Given the description of an element on the screen output the (x, y) to click on. 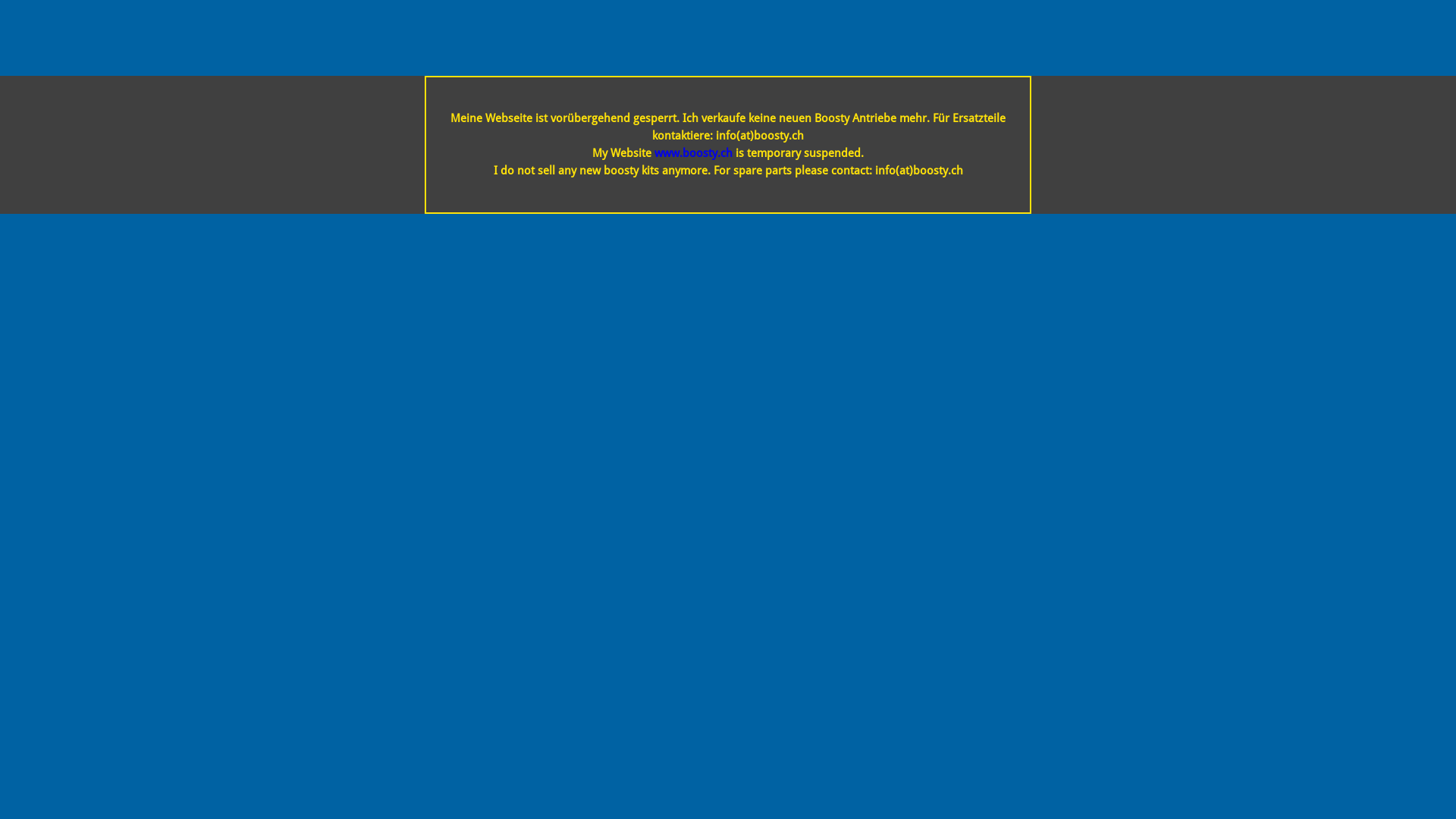
www.boosty.ch Element type: text (693, 153)
